Given the description of an element on the screen output the (x, y) to click on. 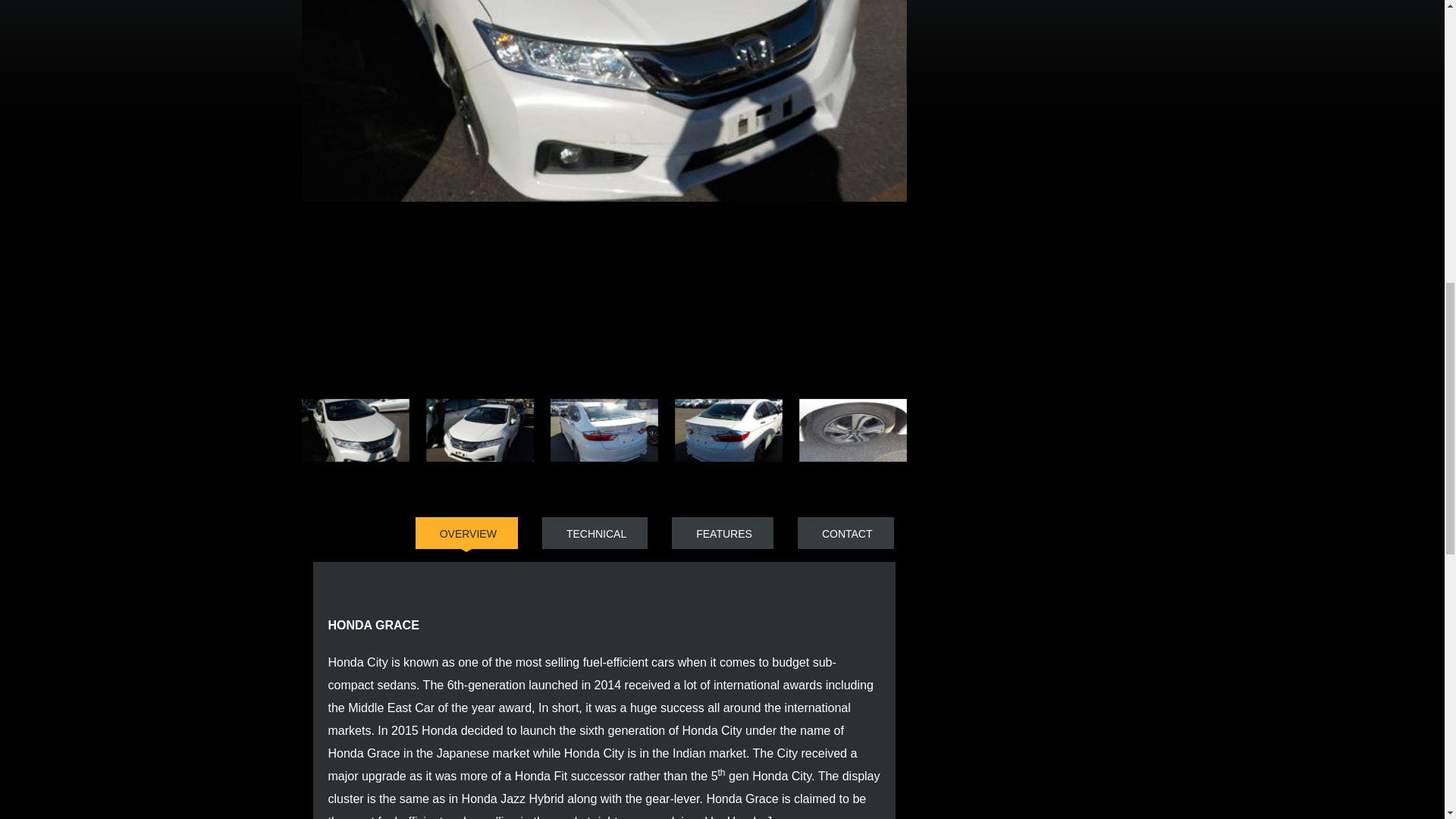
OVERVIEW (466, 532)
TECHNICAL (594, 532)
CONTACT (845, 532)
FEATURES (722, 532)
